Given the description of an element on the screen output the (x, y) to click on. 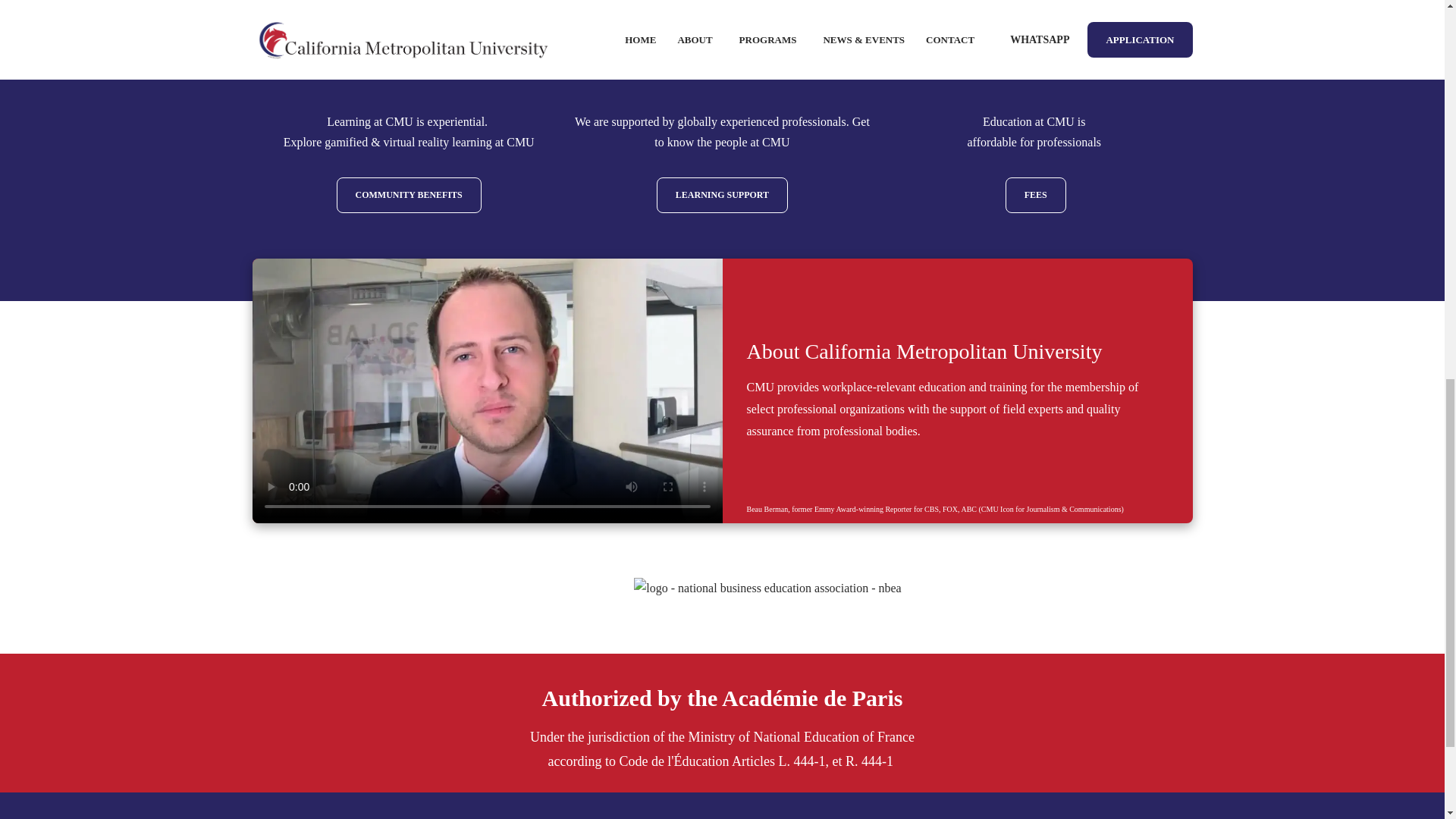
FEES (1035, 195)
COMMUNITY BENEFITS (408, 195)
LEARNING SUPPORT (721, 195)
